Given the description of an element on the screen output the (x, y) to click on. 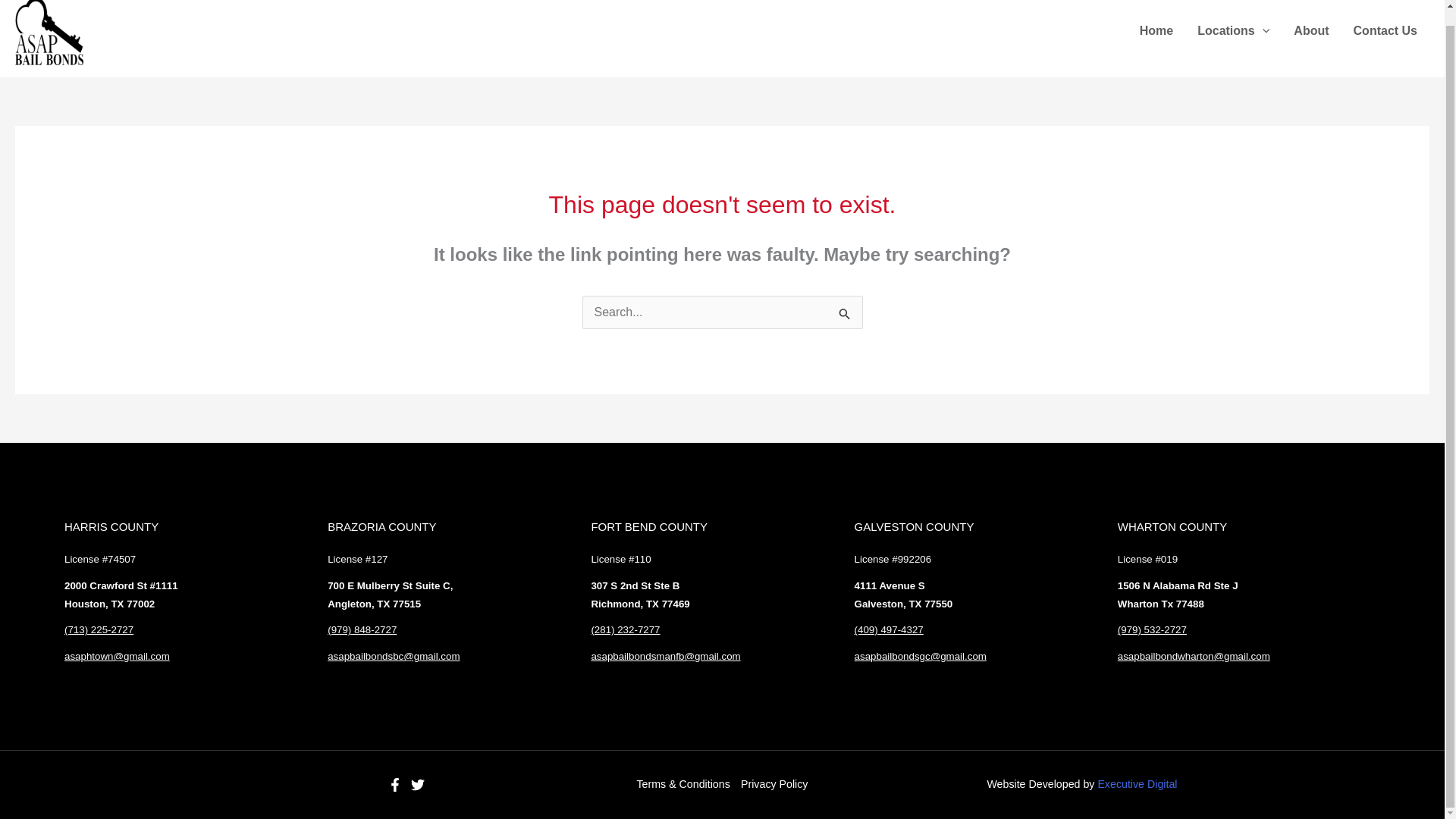
Contact Us (1384, 34)
Home (1155, 34)
Search (844, 312)
Search (844, 312)
Search (844, 312)
Locations (1233, 34)
About (1310, 34)
